Given the description of an element on the screen output the (x, y) to click on. 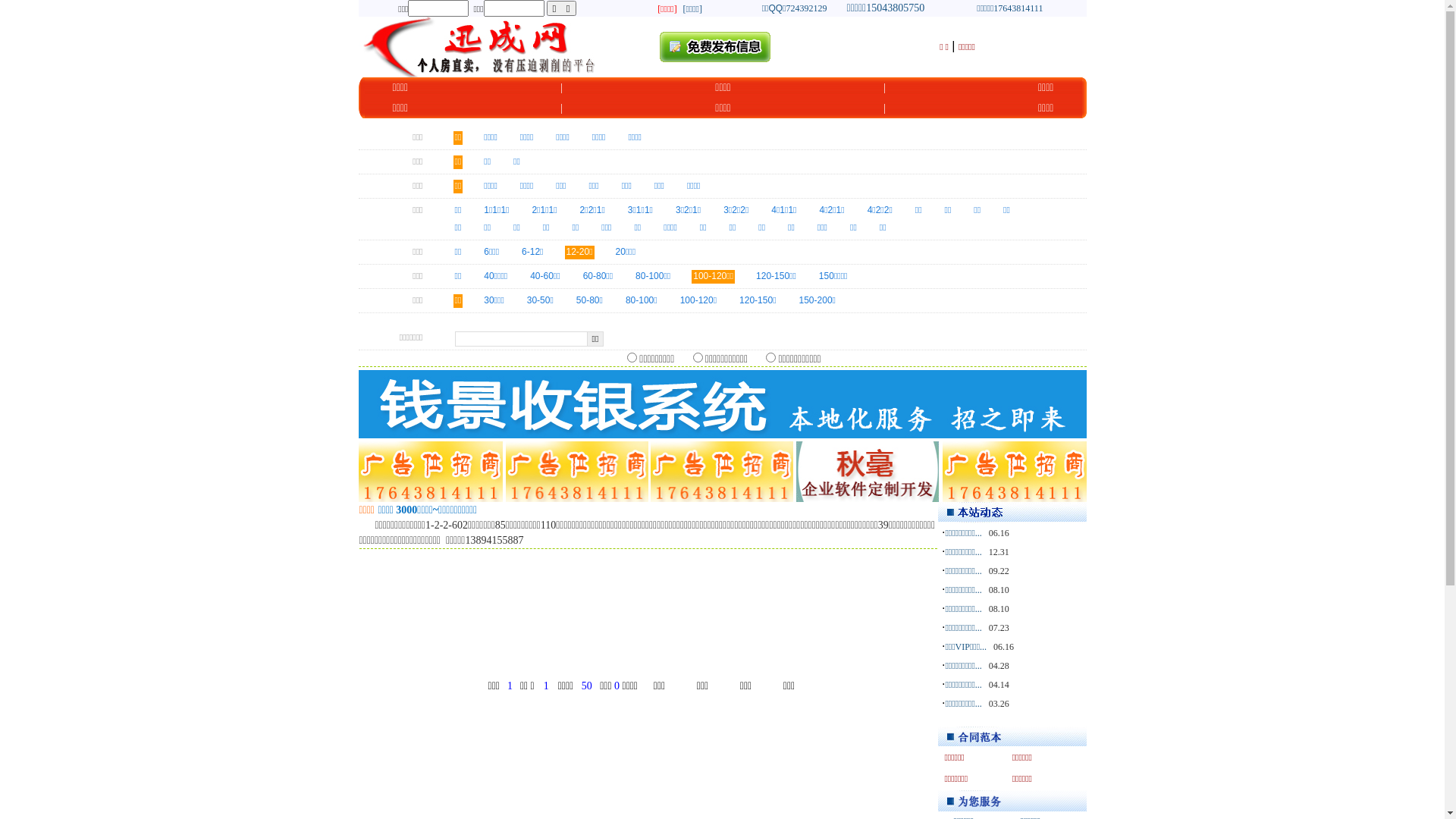
cb_f3 Element type: text (770, 357)
cb_f1 Element type: text (697, 357)
cb_f2 Element type: text (632, 357)
